Given the description of an element on the screen output the (x, y) to click on. 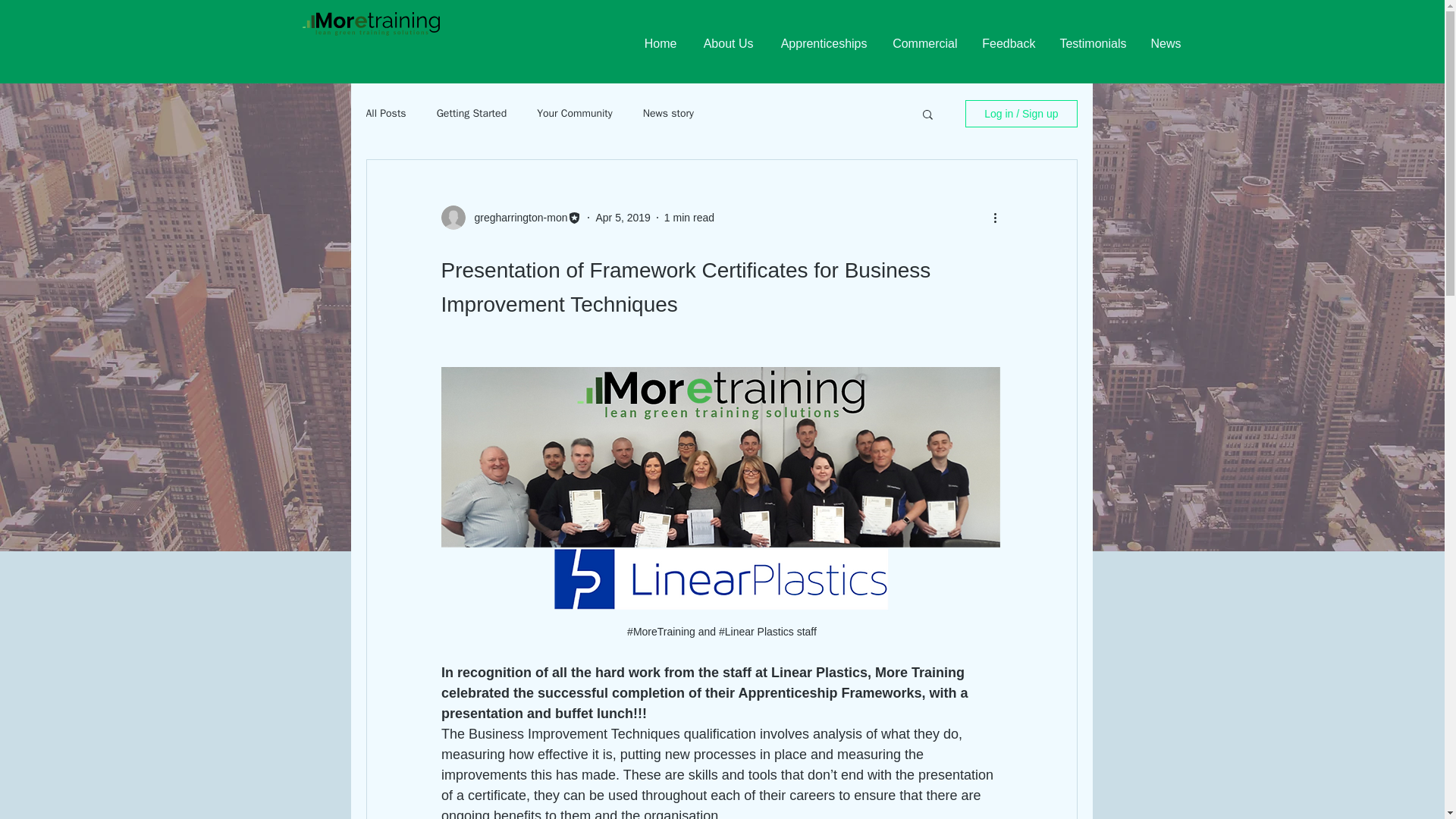
Home (658, 43)
Getting Started (471, 113)
Feedback (1007, 43)
Testimonials (1091, 43)
Your Community (574, 113)
All Posts (385, 113)
News story (668, 113)
About Us (726, 43)
Commercial (922, 43)
News (1164, 43)
gregharrington-mon (516, 217)
Apprenticeships (820, 43)
Apr 5, 2019 (622, 216)
1 min read (688, 216)
